Given the description of an element on the screen output the (x, y) to click on. 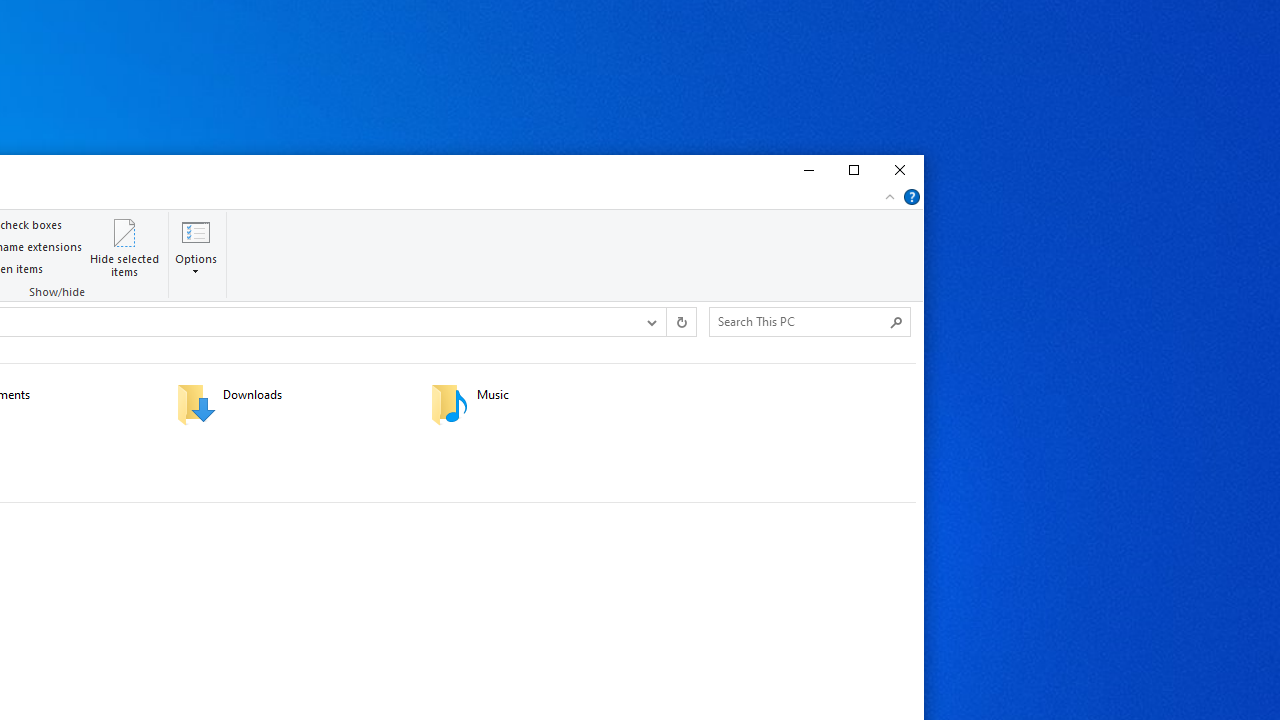
Close (900, 170)
